Given the description of an element on the screen output the (x, y) to click on. 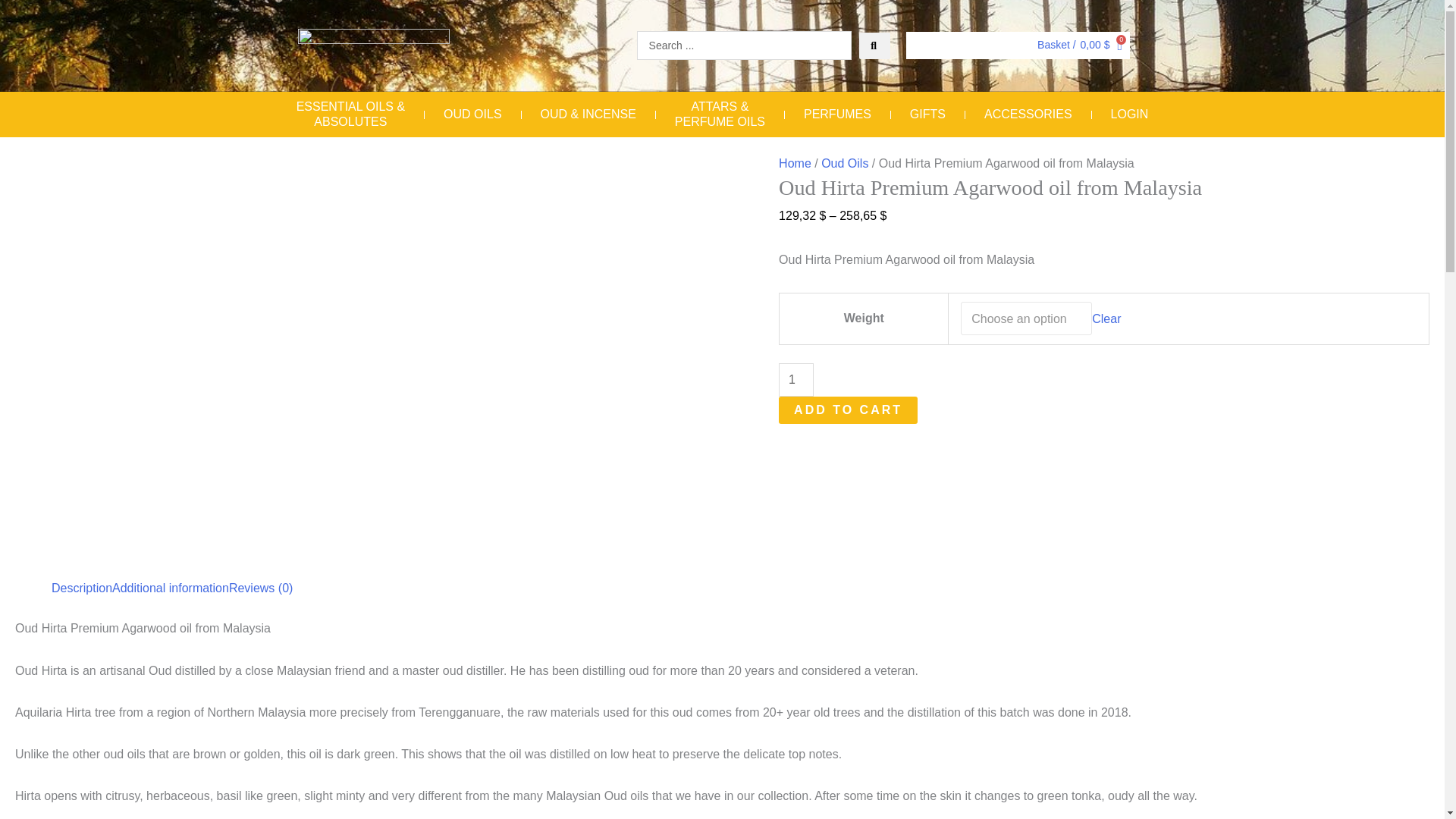
OUD OILS (472, 114)
ACCESSORIES (1027, 114)
GIFTS (927, 114)
PERFUMES (836, 114)
LOGIN (1129, 114)
1 (795, 379)
